Given the description of an element on the screen output the (x, y) to click on. 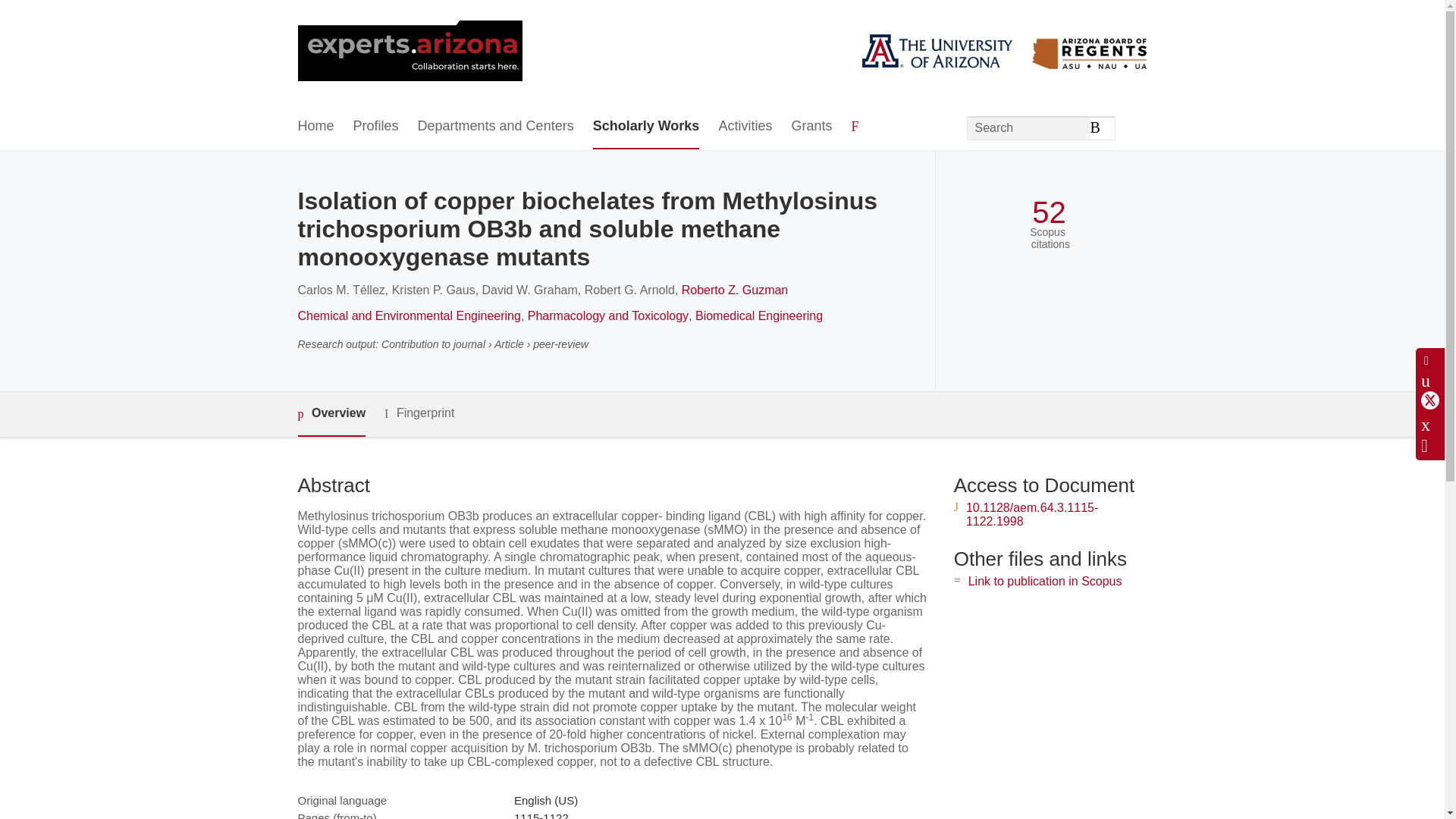
Chemical and Environmental Engineering (408, 315)
Pharmacology and Toxicology (607, 315)
Scholarly Works (646, 126)
52 (1048, 212)
University of Arizona Home (409, 52)
Departments and Centers (495, 126)
Profiles (375, 126)
Grants (810, 126)
Roberto Z. Guzman (735, 289)
Overview (331, 414)
Link to publication in Scopus (1045, 581)
Activities (744, 126)
Fingerprint (419, 413)
Biomedical Engineering (758, 315)
